Given the description of an element on the screen output the (x, y) to click on. 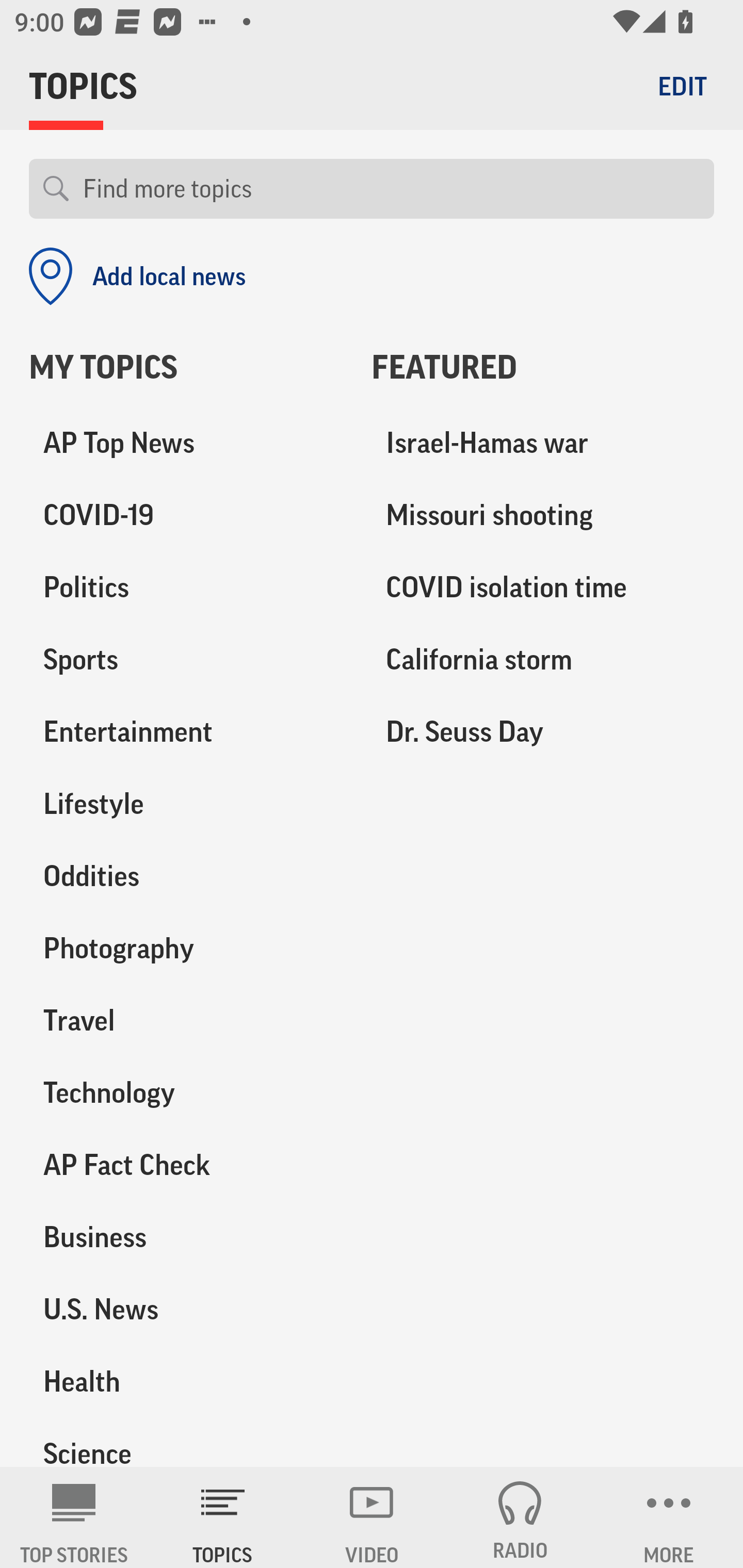
EDIT (682, 86)
Find more topics (391, 188)
Add local news (137, 276)
AP Top News (185, 443)
Israel-Hamas war (542, 443)
COVID-19 (185, 515)
Missouri shooting (542, 515)
Politics (185, 587)
COVID isolation time (542, 587)
Sports (185, 660)
California storm (542, 660)
Entertainment (185, 732)
Dr. Seuss Day (542, 732)
Lifestyle (185, 804)
Oddities (185, 876)
Photography (185, 948)
Travel (185, 1020)
Technology (185, 1092)
AP Fact Check (185, 1164)
Business (185, 1237)
U.S. News (185, 1309)
Health (185, 1381)
Science (185, 1442)
AP News TOP STORIES (74, 1517)
TOPICS (222, 1517)
VIDEO (371, 1517)
RADIO (519, 1517)
MORE (668, 1517)
